Given the description of an element on the screen output the (x, y) to click on. 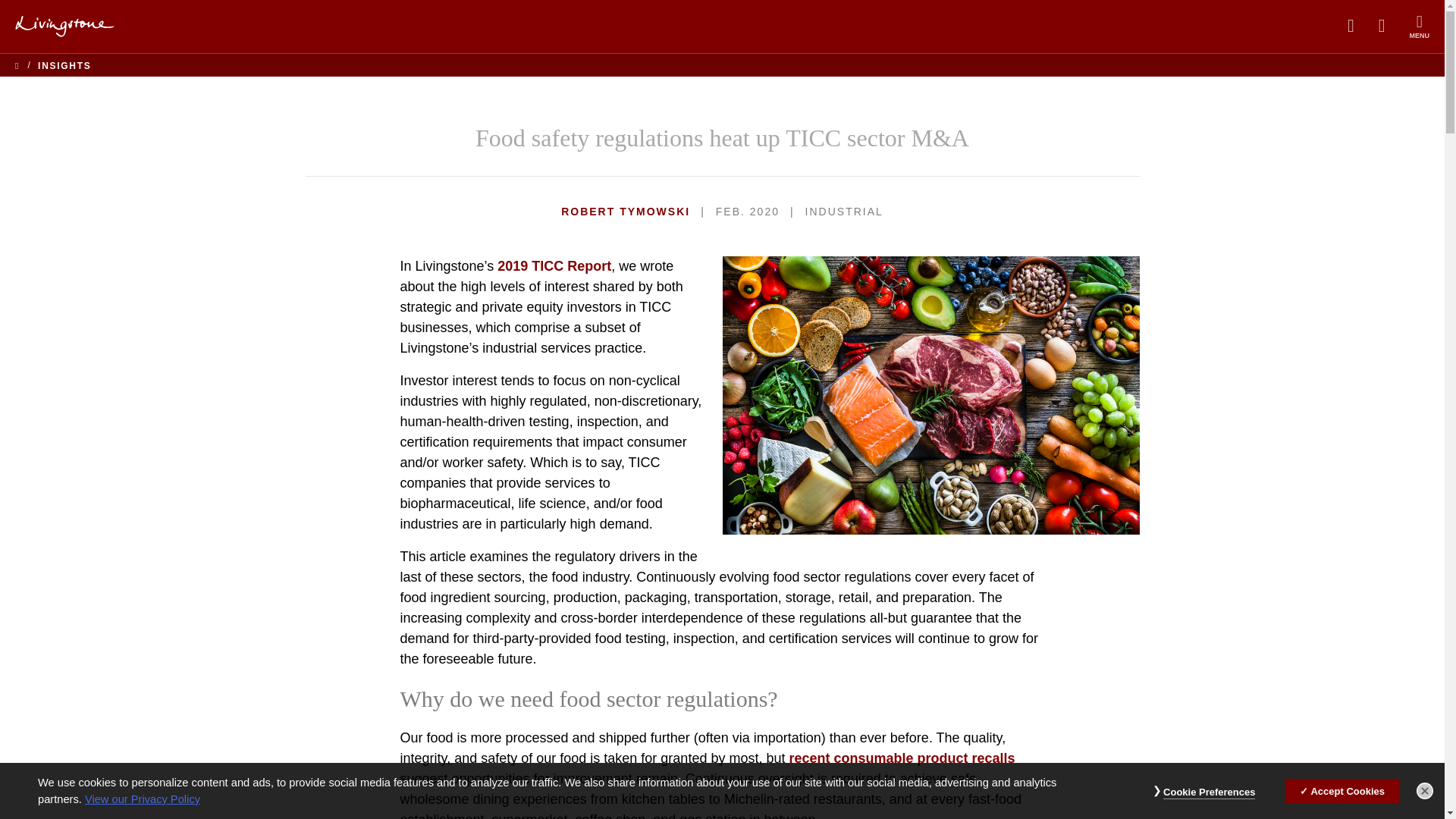
INSIGHTS (63, 65)
Accept Cookies (1342, 790)
Close (1424, 790)
Cookie Preferences (1209, 792)
Cookie Preferences (1209, 792)
View our Privacy Policy (142, 799)
Accept Cookies (1342, 790)
